Given the description of an element on the screen output the (x, y) to click on. 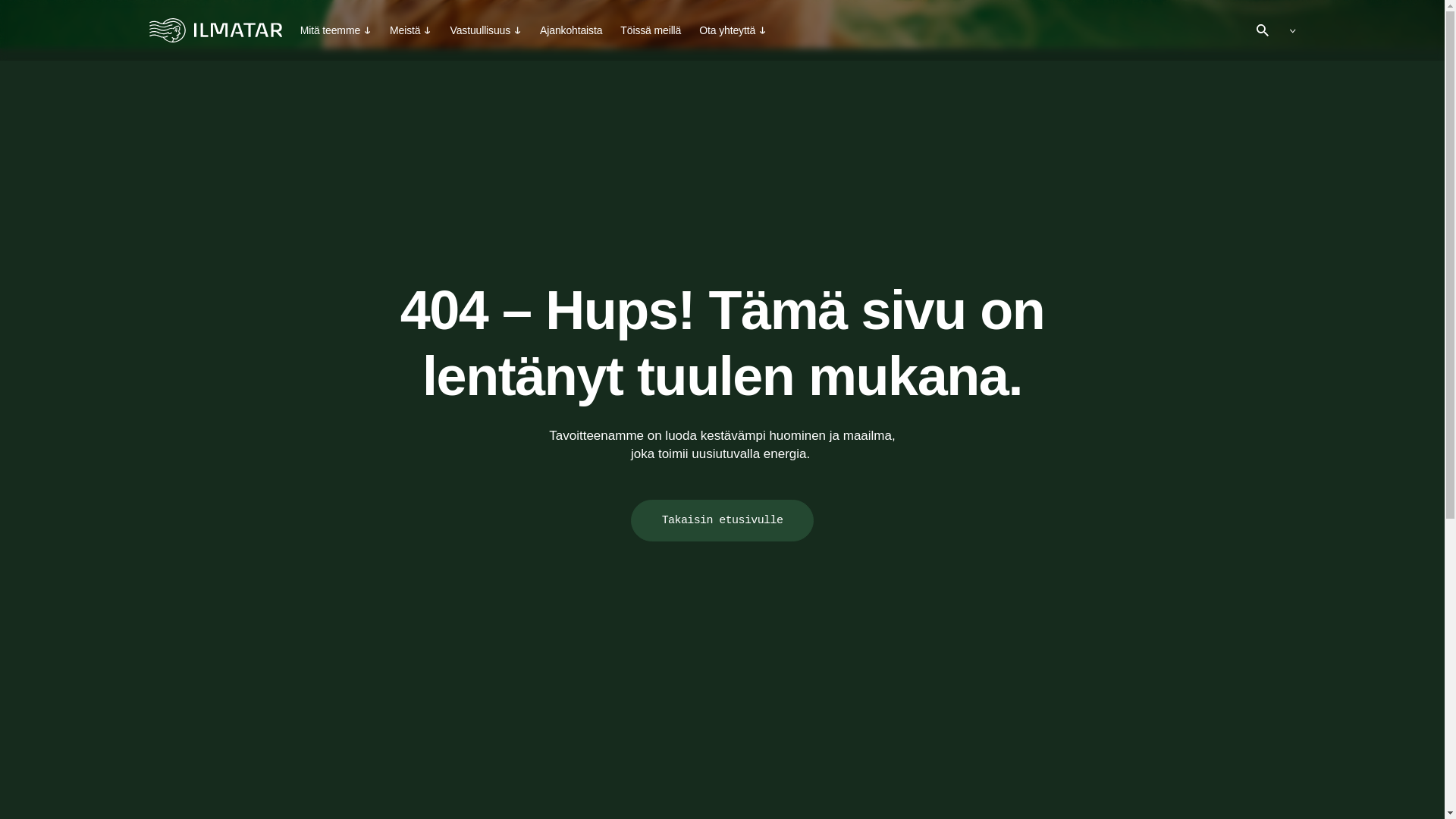
Etusivu (214, 30)
Vastuullisuus (485, 30)
Etsi sivustolta (1261, 30)
Ajankohtaista (571, 30)
